Given the description of an element on the screen output the (x, y) to click on. 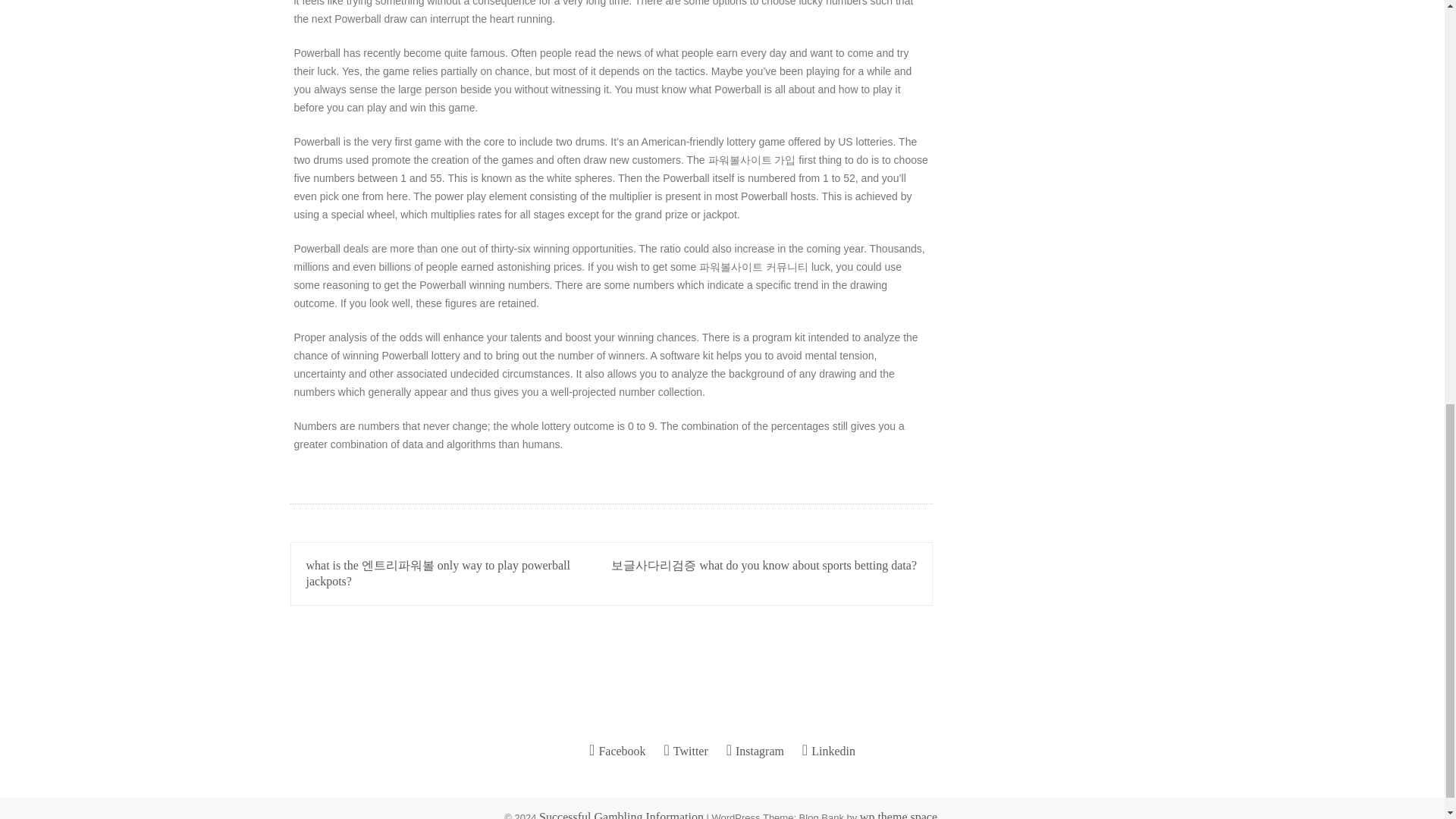
Twitter (685, 750)
Facebook (617, 750)
wp theme space (898, 814)
Successful Gambling Information (620, 814)
Linkedin (829, 750)
Instagram (755, 750)
